Given the description of an element on the screen output the (x, y) to click on. 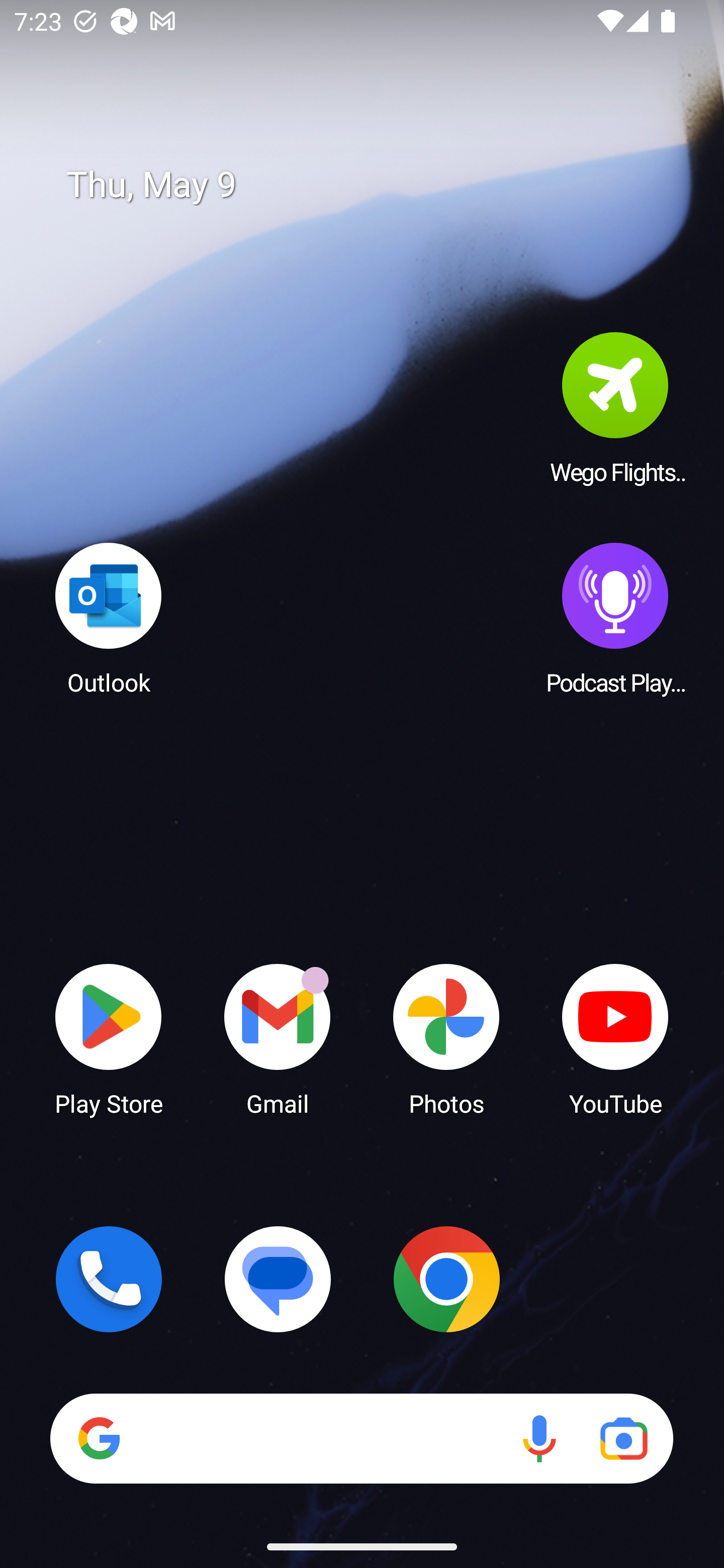
Thu, May 9 (375, 184)
Wego Flights & Hotels (615, 407)
Outlook (108, 617)
Podcast Player (615, 617)
Play Store (108, 1038)
Gmail Gmail has 18 notifications (277, 1038)
Photos (445, 1038)
YouTube (615, 1038)
Phone (108, 1279)
Messages (277, 1279)
Chrome (446, 1279)
Search Voice search Google Lens (361, 1438)
Voice search (539, 1438)
Google Lens (623, 1438)
